Given the description of an element on the screen output the (x, y) to click on. 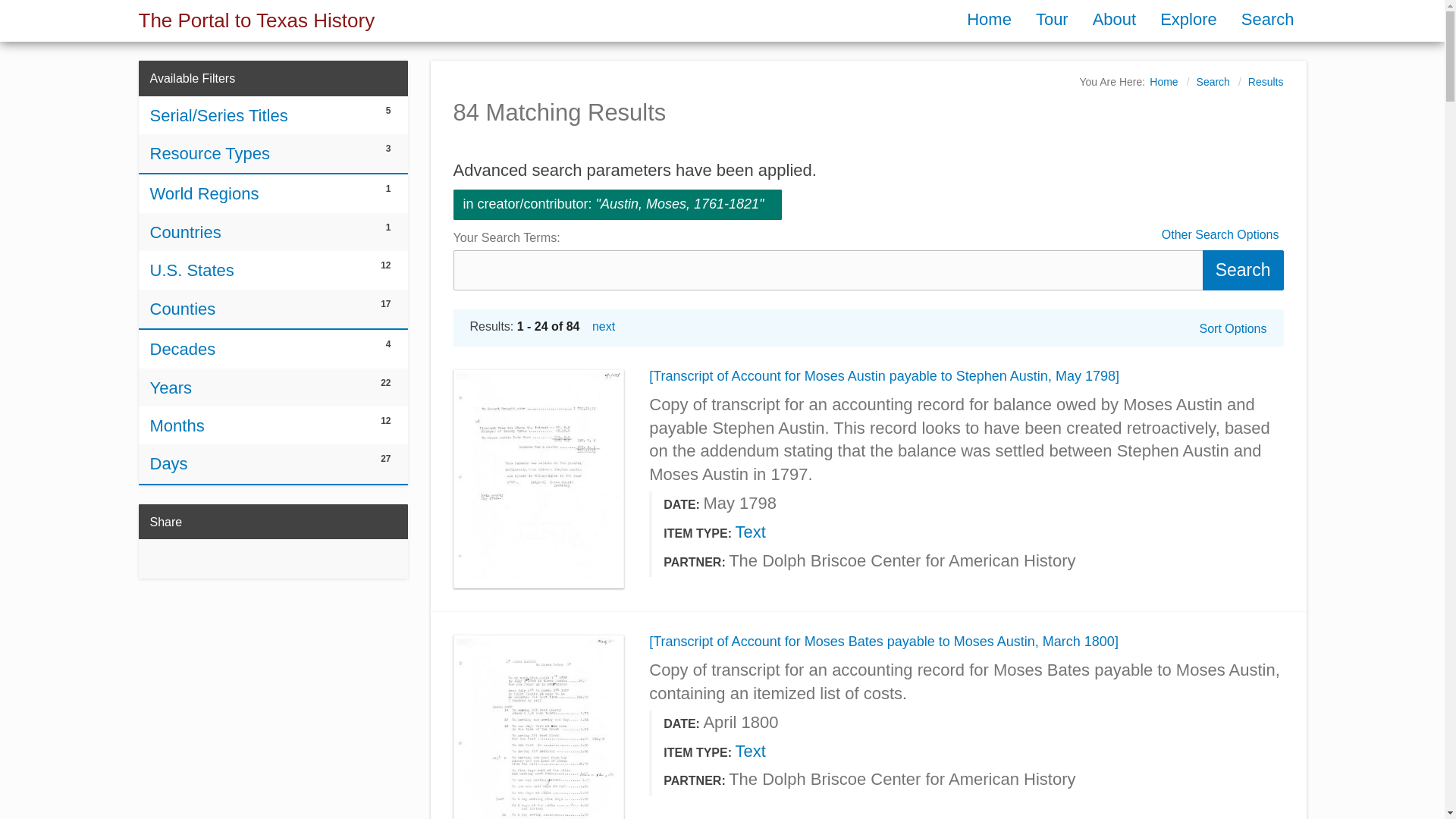
The Portal to Texas History (256, 20)
Home (989, 18)
Search (1267, 18)
Explore (1188, 18)
Tour (1051, 18)
Results (1265, 81)
About (1114, 18)
Search (1220, 234)
View Results as a List (1213, 81)
